Given the description of an element on the screen output the (x, y) to click on. 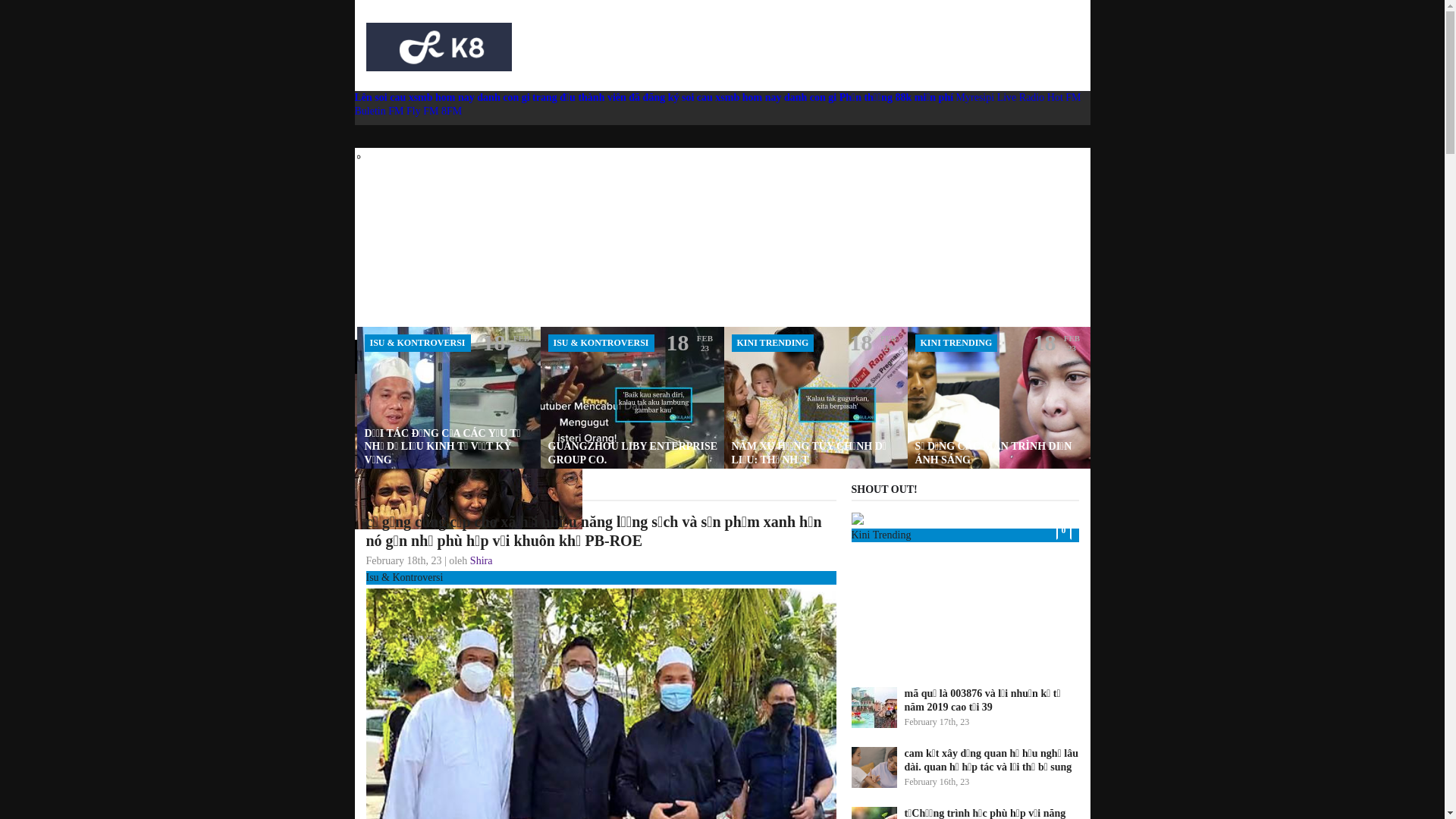
Buletin FM Element type: text (380, 110)
Shira Element type: text (481, 560)
Myresipi Element type: text (975, 97)
8FM Element type: text (451, 110)
Hot FM Element type: text (1064, 97)
Live Radio Element type: text (1020, 97)
Fly FM Element type: text (423, 110)
